Given the description of an element on the screen output the (x, y) to click on. 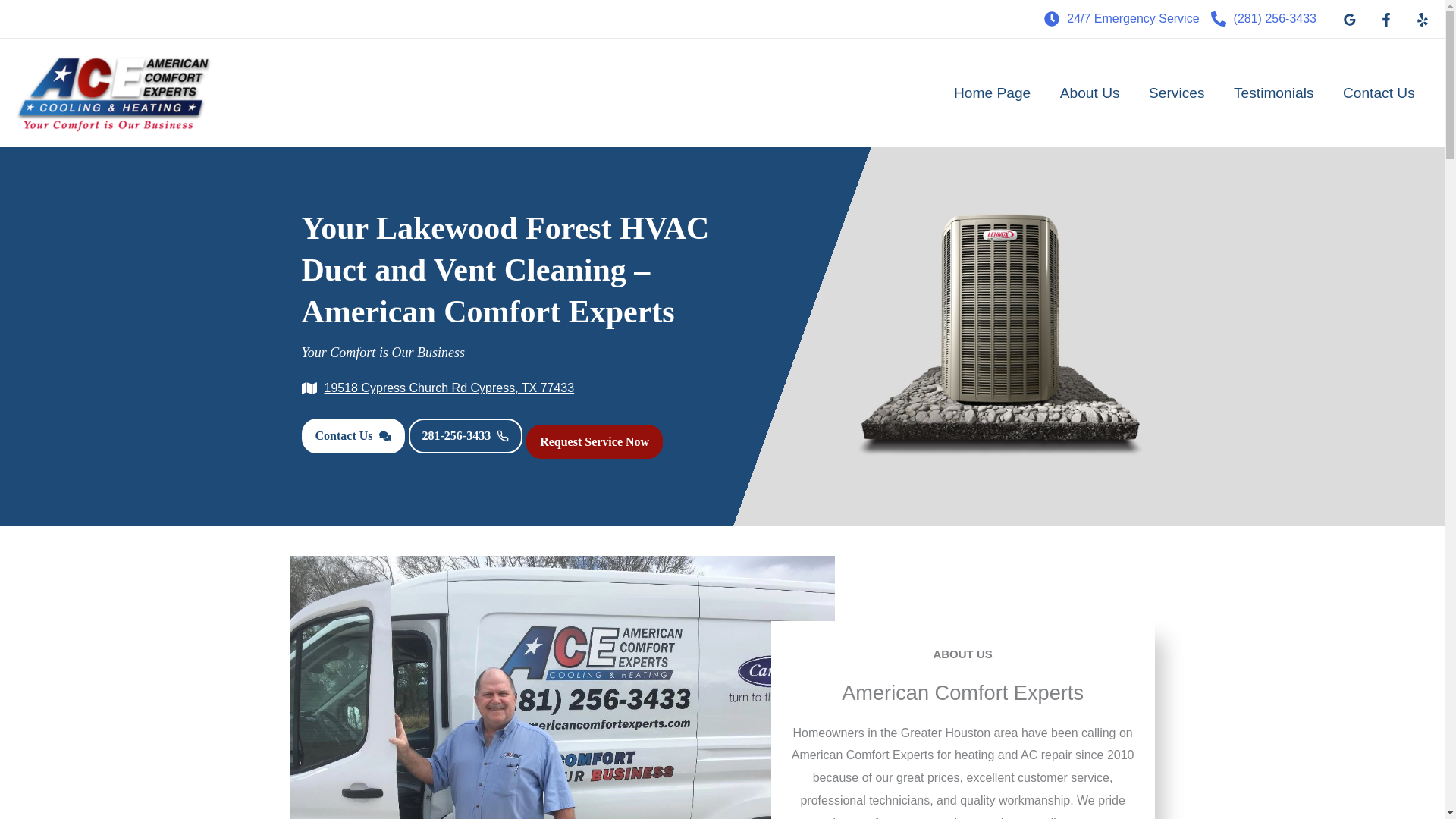
19518 Cypress Church Rd Cypress, TX 77433 (438, 387)
Testimonials (1273, 92)
Home Page (992, 92)
Services (1177, 92)
281-256-3433 (464, 435)
Contact Us (352, 435)
Request Service Now (593, 442)
About Us (1089, 92)
Contact Us (1378, 92)
